Given the description of an element on the screen output the (x, y) to click on. 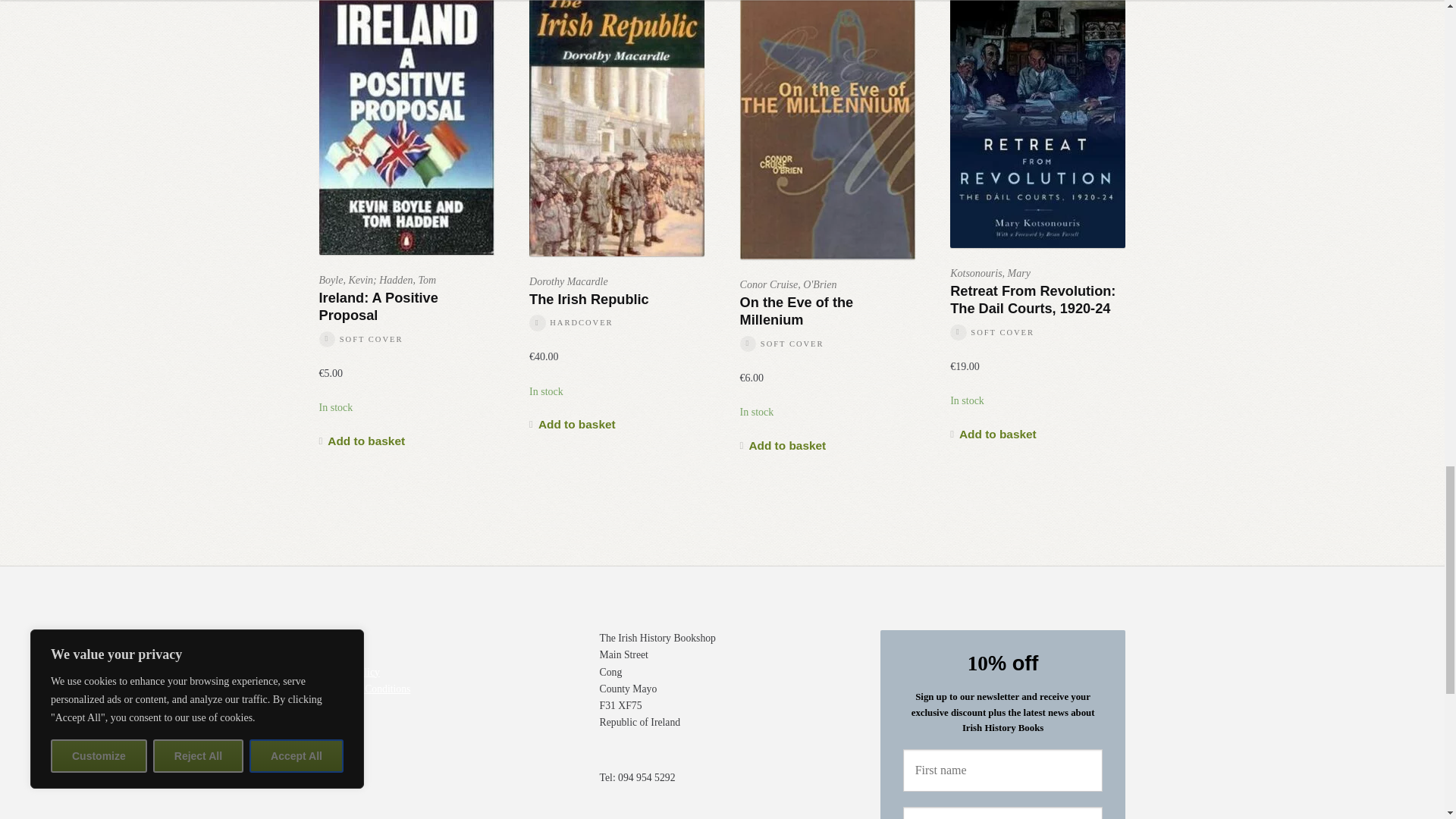
First name (1002, 770)
Last name (1002, 812)
